Given the description of an element on the screen output the (x, y) to click on. 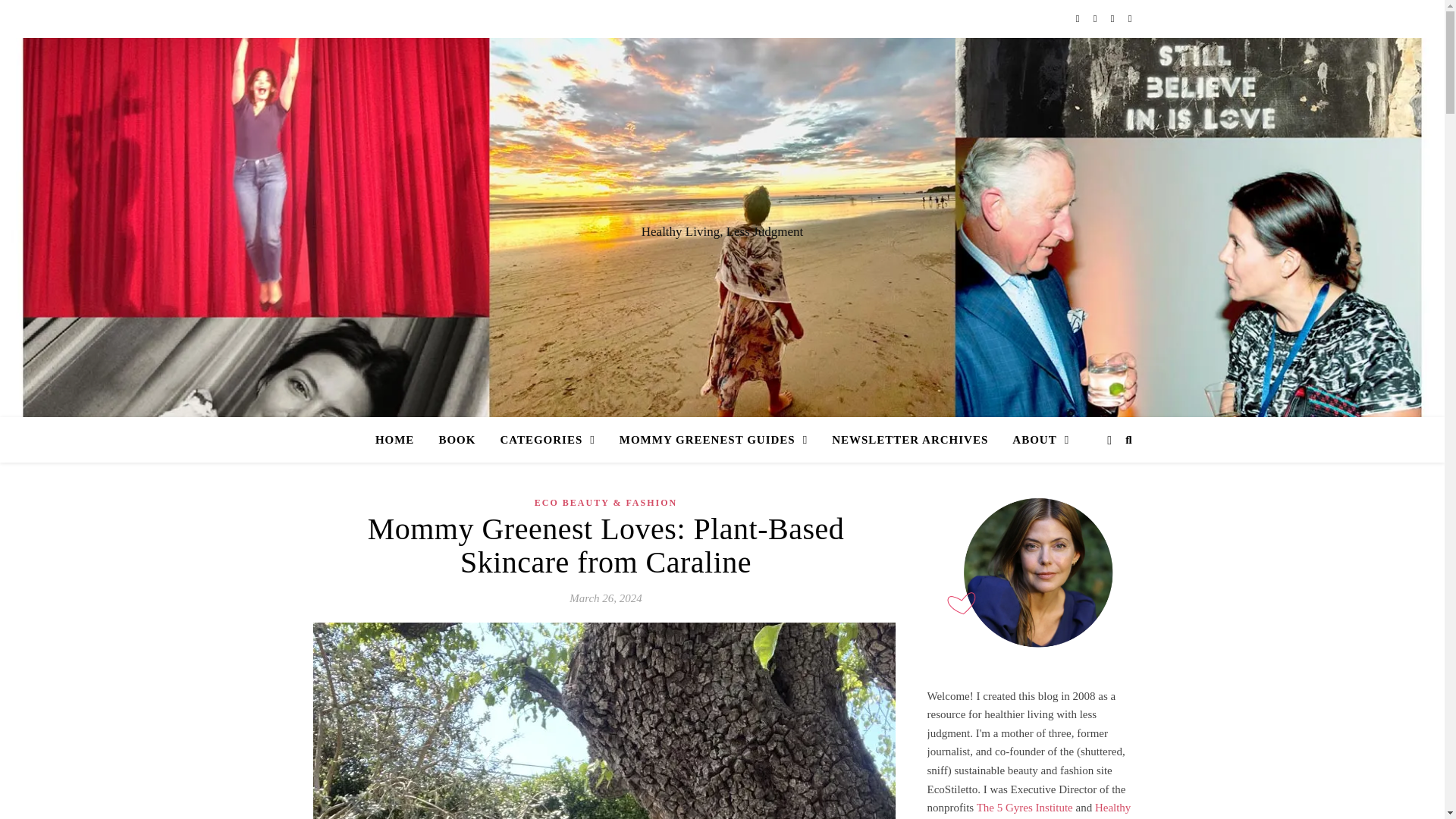
ABOUT (1034, 439)
MOMMY GREENEST GUIDES (713, 439)
BOOK (456, 439)
NEWSLETTER ARCHIVES (909, 439)
HOME (400, 439)
CATEGORIES (547, 439)
